Given the description of an element on the screen output the (x, y) to click on. 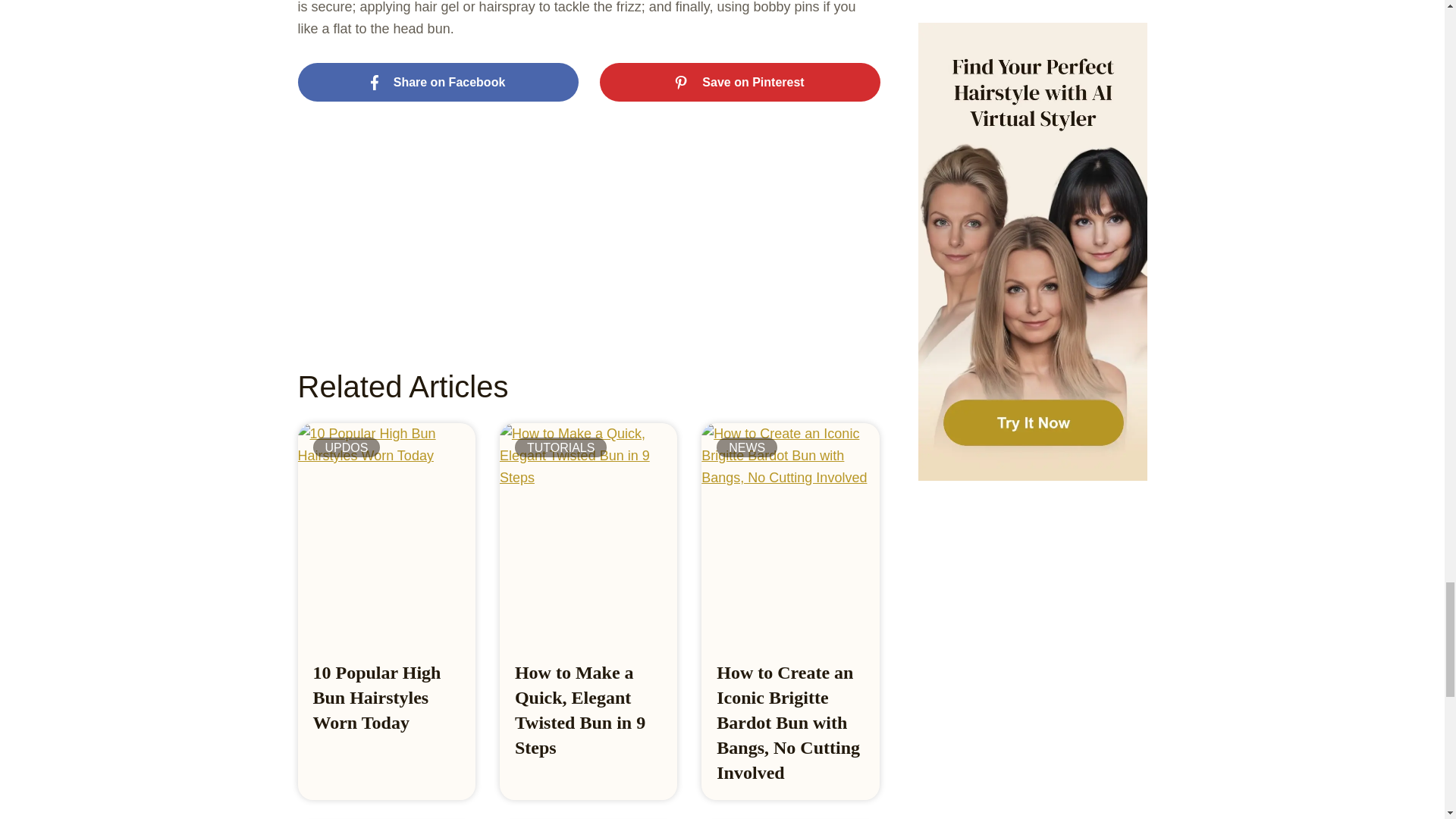
How to Make a Quick, Elegant Twisted Bun in 9 Steps (580, 709)
UPDOS (346, 447)
Tutorials (561, 447)
Share on Facebook (437, 82)
Save on Pinterest (738, 82)
News (746, 447)
Updos (346, 447)
10 Popular High Bun Hairstyles Worn Today (377, 697)
10 Popular High Bun Hairstyles Worn Today (377, 697)
